Given the description of an element on the screen output the (x, y) to click on. 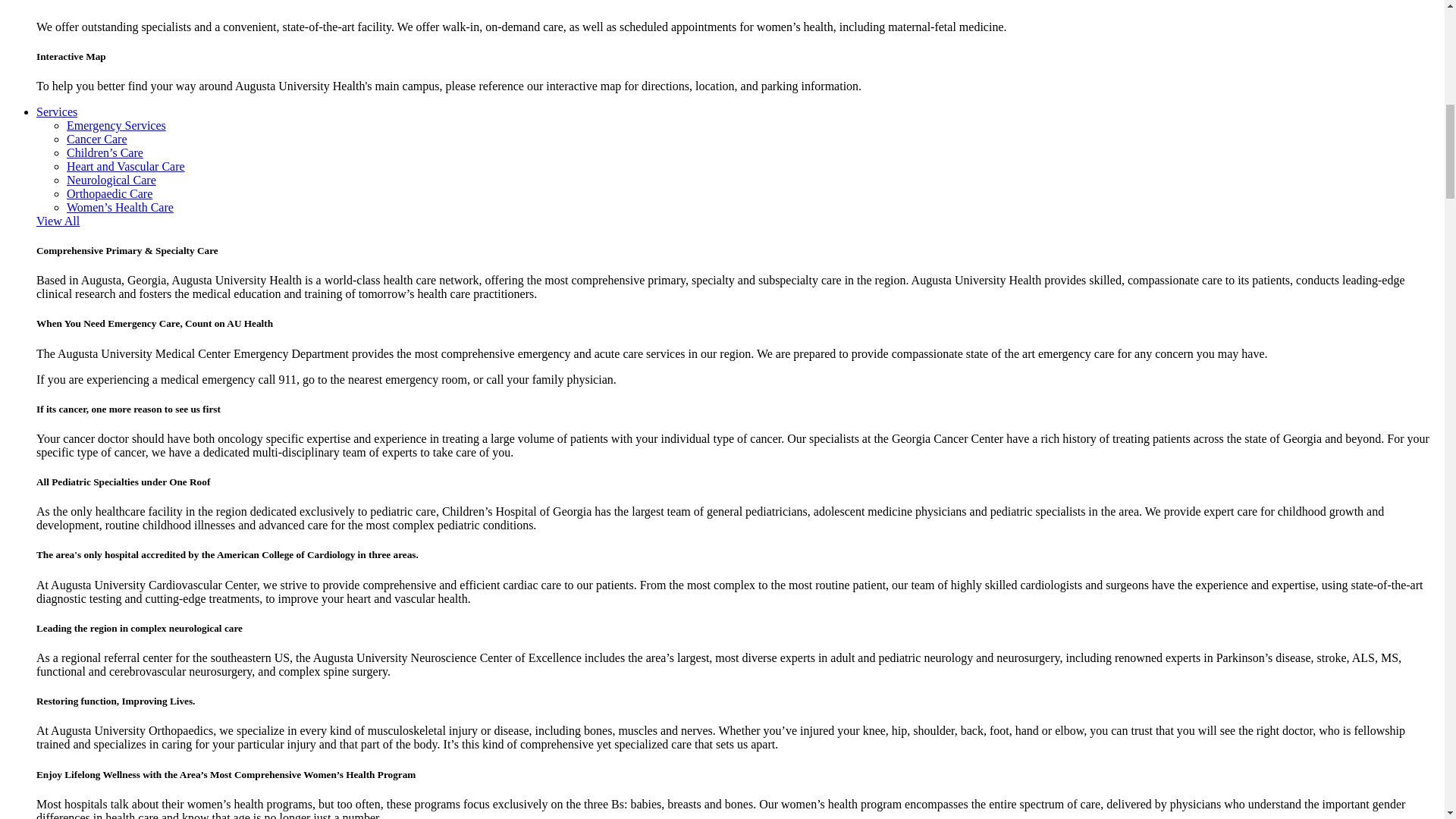
Orthopaedic Care (109, 193)
Heart and Vascular Care (125, 165)
Emergency Services (115, 124)
Services (56, 111)
Neurological Care (110, 179)
View All (58, 220)
Cancer Care (97, 138)
